Given the description of an element on the screen output the (x, y) to click on. 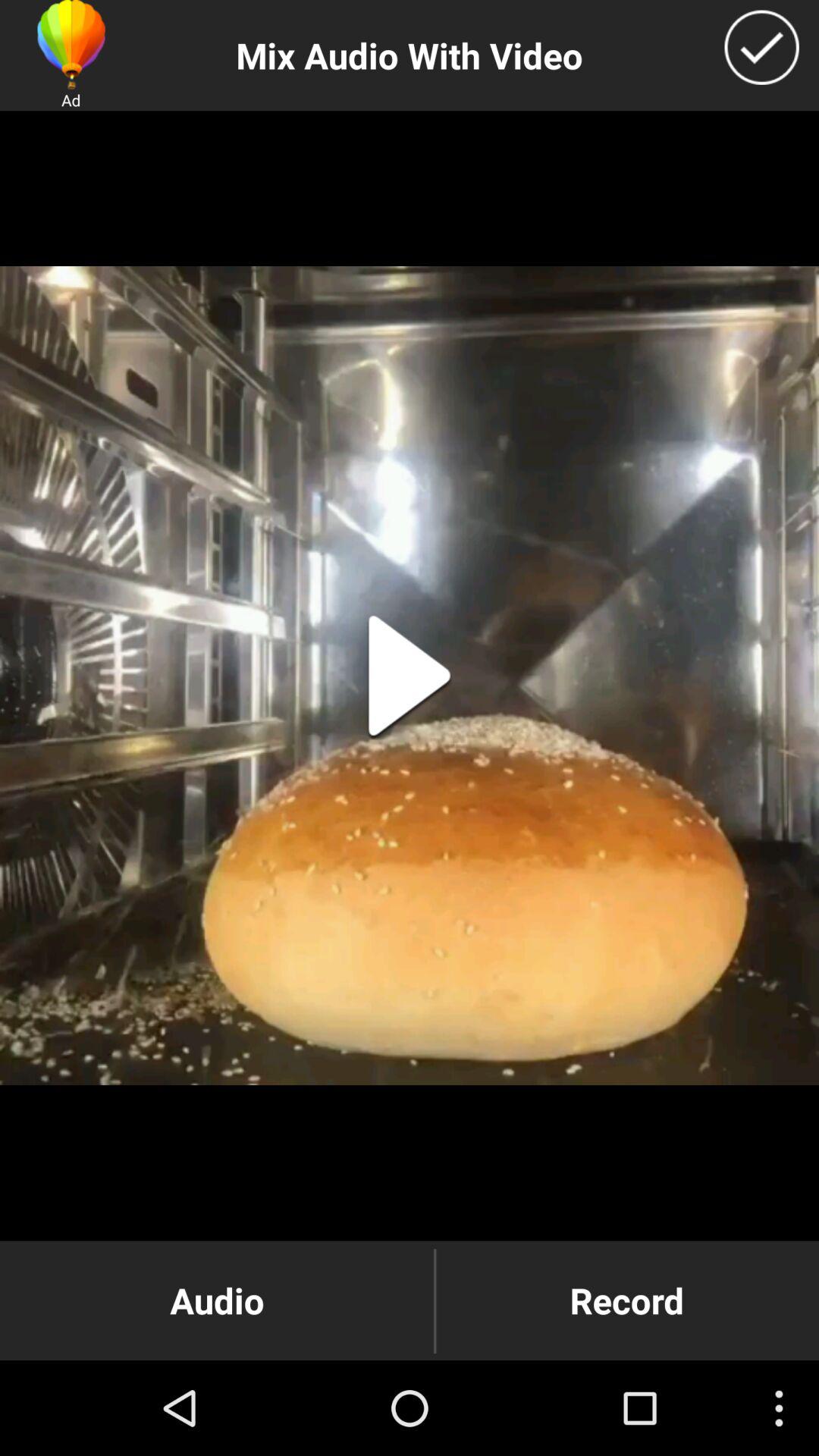
click to mix audio with video (761, 47)
